Given the description of an element on the screen output the (x, y) to click on. 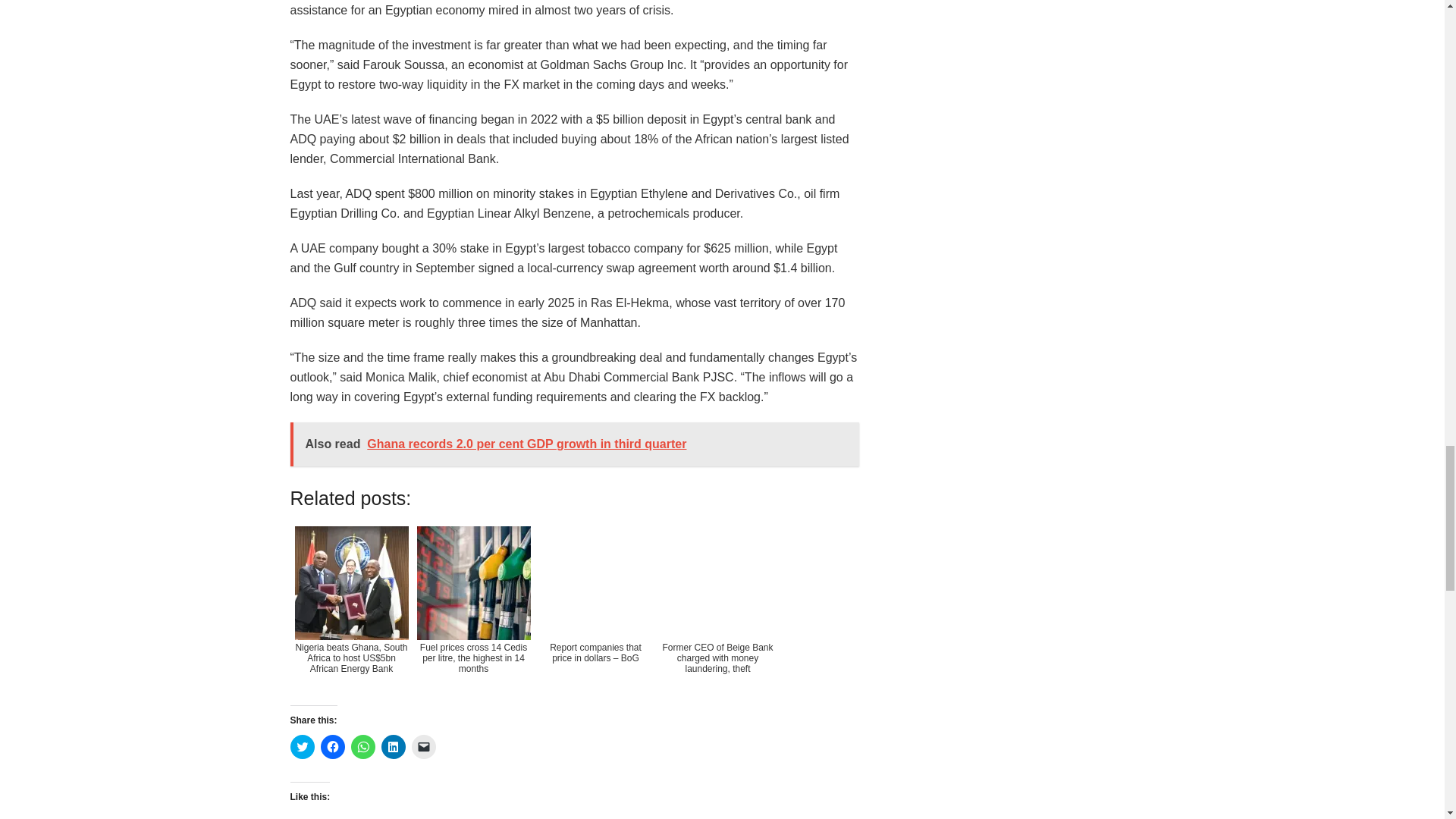
Click to share on Facebook (331, 746)
Click to email a link to a friend (422, 746)
Click to share on WhatsApp (362, 746)
Click to share on LinkedIn (392, 746)
Click to share on Twitter (301, 746)
